Given the description of an element on the screen output the (x, y) to click on. 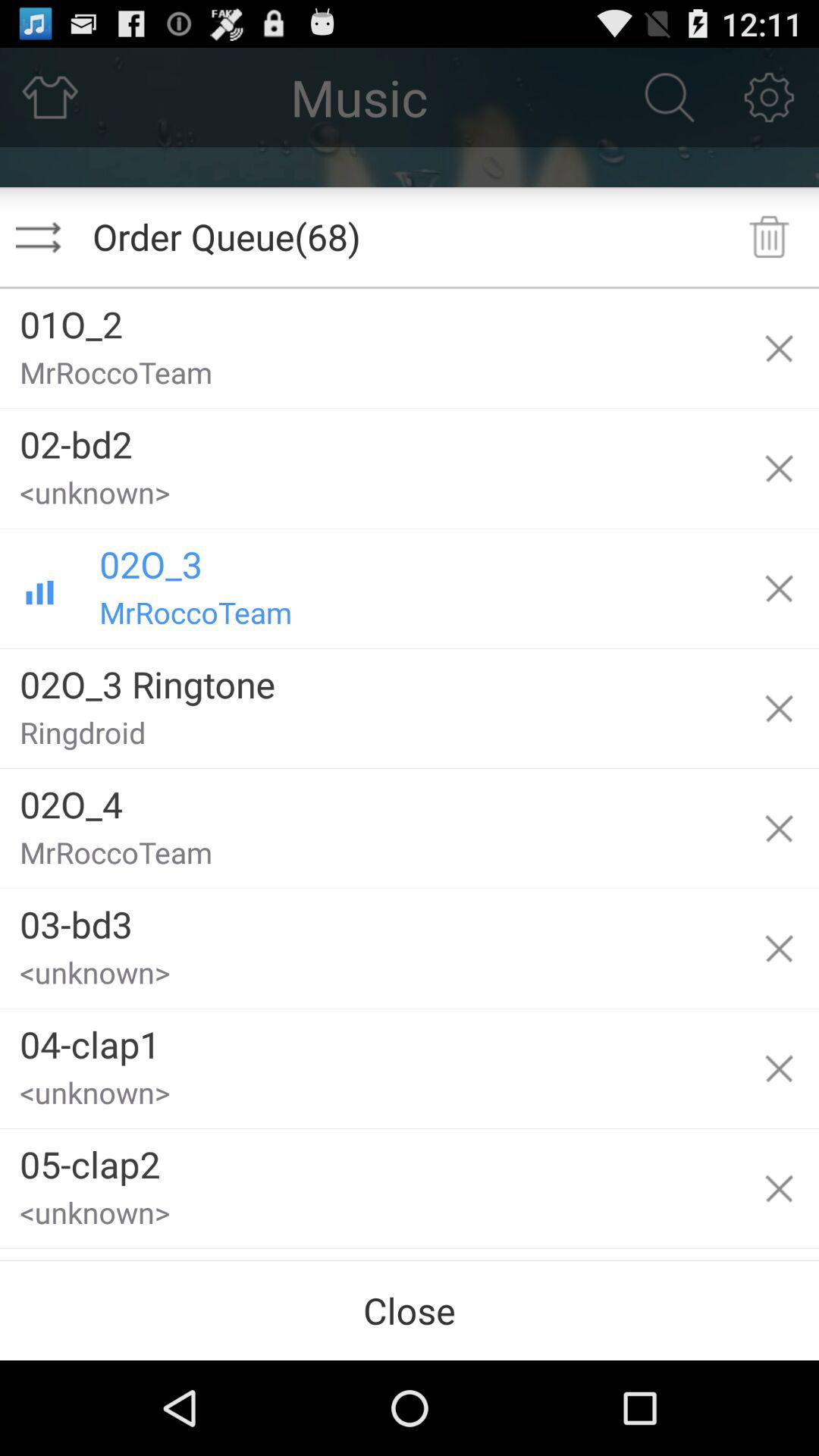
launch the 03-bd3 item (369, 918)
